Given the description of an element on the screen output the (x, y) to click on. 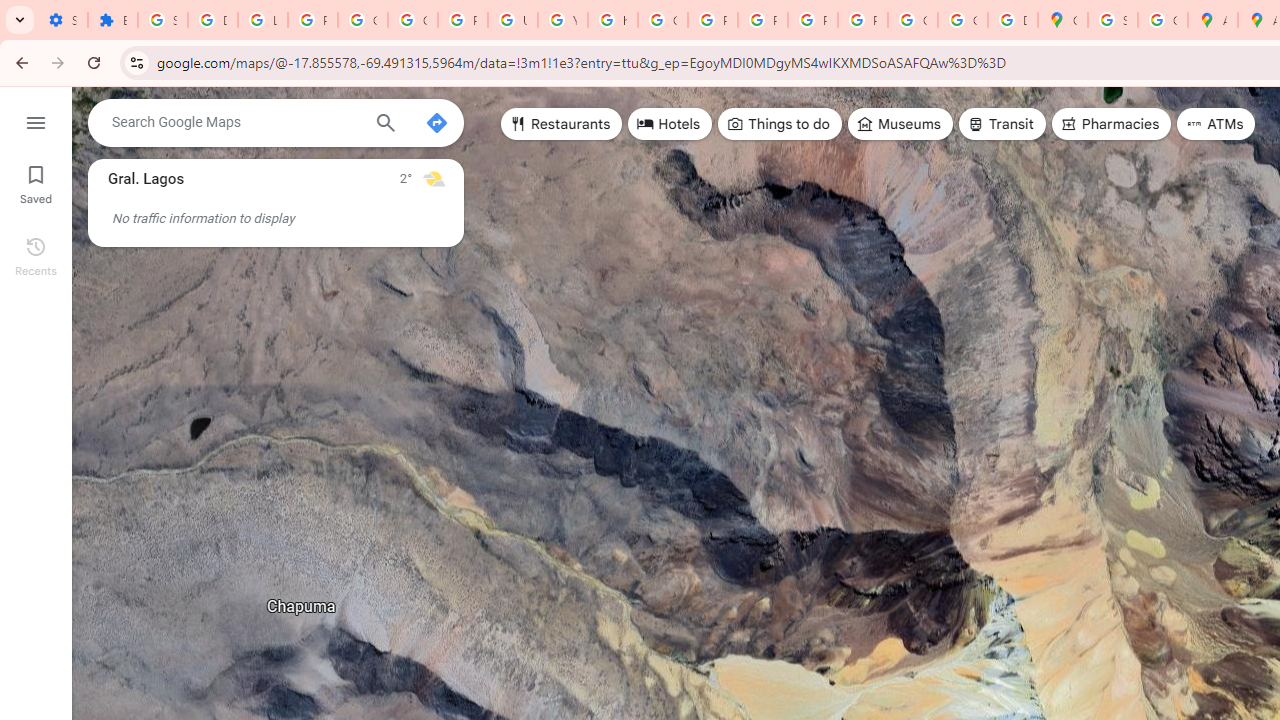
Sign in - Google Accounts (1112, 20)
Google Account Help (412, 20)
Things to do (780, 124)
Settings - On startup (62, 20)
Extensions (113, 20)
ATMs (1216, 124)
Google Maps (1062, 20)
YouTube (562, 20)
Mostly cloudy (433, 178)
Museums (900, 124)
